Given the description of an element on the screen output the (x, y) to click on. 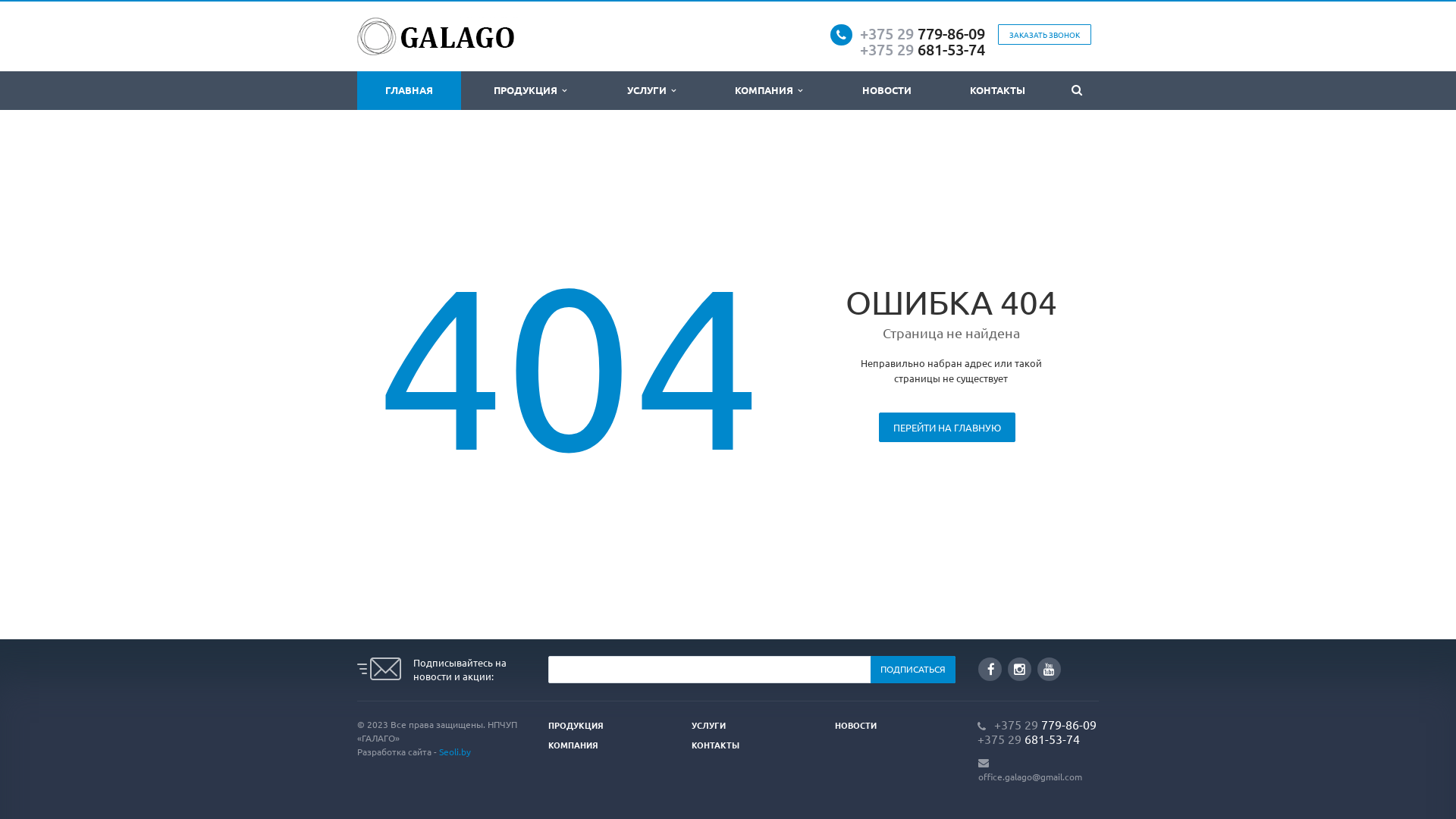
+375 29 779-86-09 Element type: text (1045, 723)
YouTube Element type: text (1048, 668)
+375 29 779-86-09 Element type: text (922, 33)
+375 29 681-53-74 Element type: text (1028, 738)
Seoli.by Element type: text (454, 751)
office.galago@gmail.com Element type: text (1030, 776)
+375 29 681-53-74 Element type: text (922, 49)
Facebook Element type: text (989, 668)
Instagram Element type: text (1019, 668)
